Given the description of an element on the screen output the (x, y) to click on. 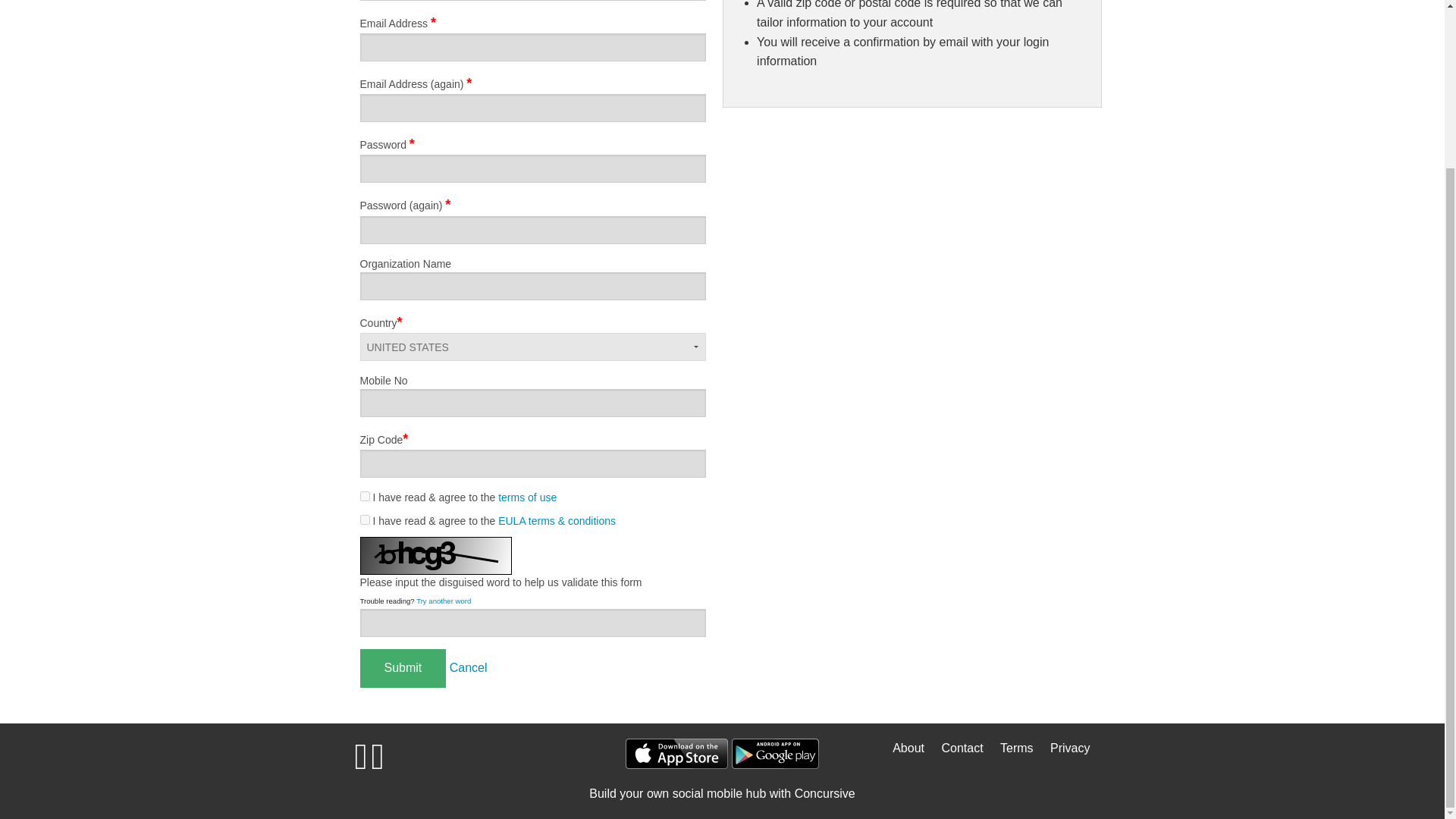
Build your own social mobile hub with Concursive (721, 793)
Contact Us (954, 748)
Privacy Policy (1062, 748)
accept (364, 496)
Twitter page (377, 764)
Contact (954, 748)
accept (364, 519)
Submit (402, 668)
Privacy (1062, 748)
terms of use (526, 497)
Cancel (468, 667)
About (901, 748)
Facebook page (361, 764)
Terms (1010, 748)
